Given the description of an element on the screen output the (x, y) to click on. 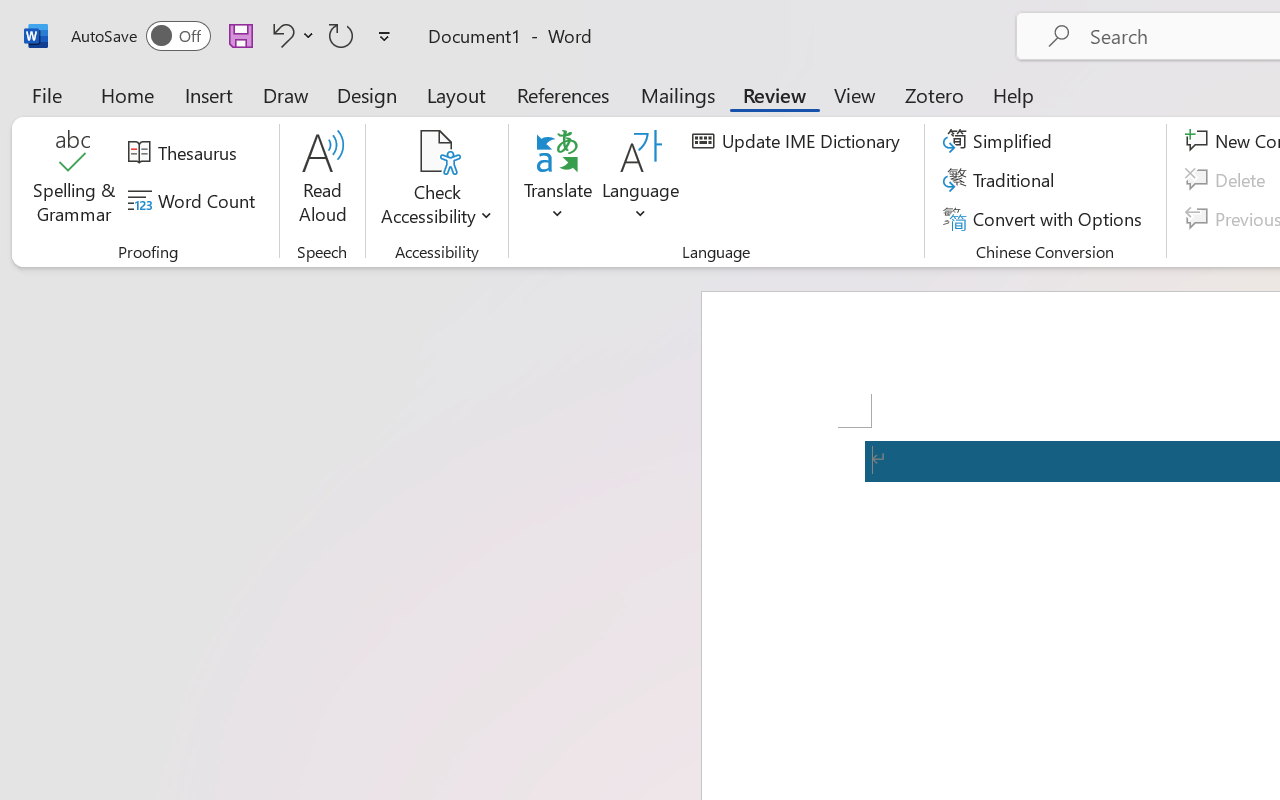
Read Aloud (322, 179)
Translate (558, 179)
Check Accessibility (436, 151)
